Given the description of an element on the screen output the (x, y) to click on. 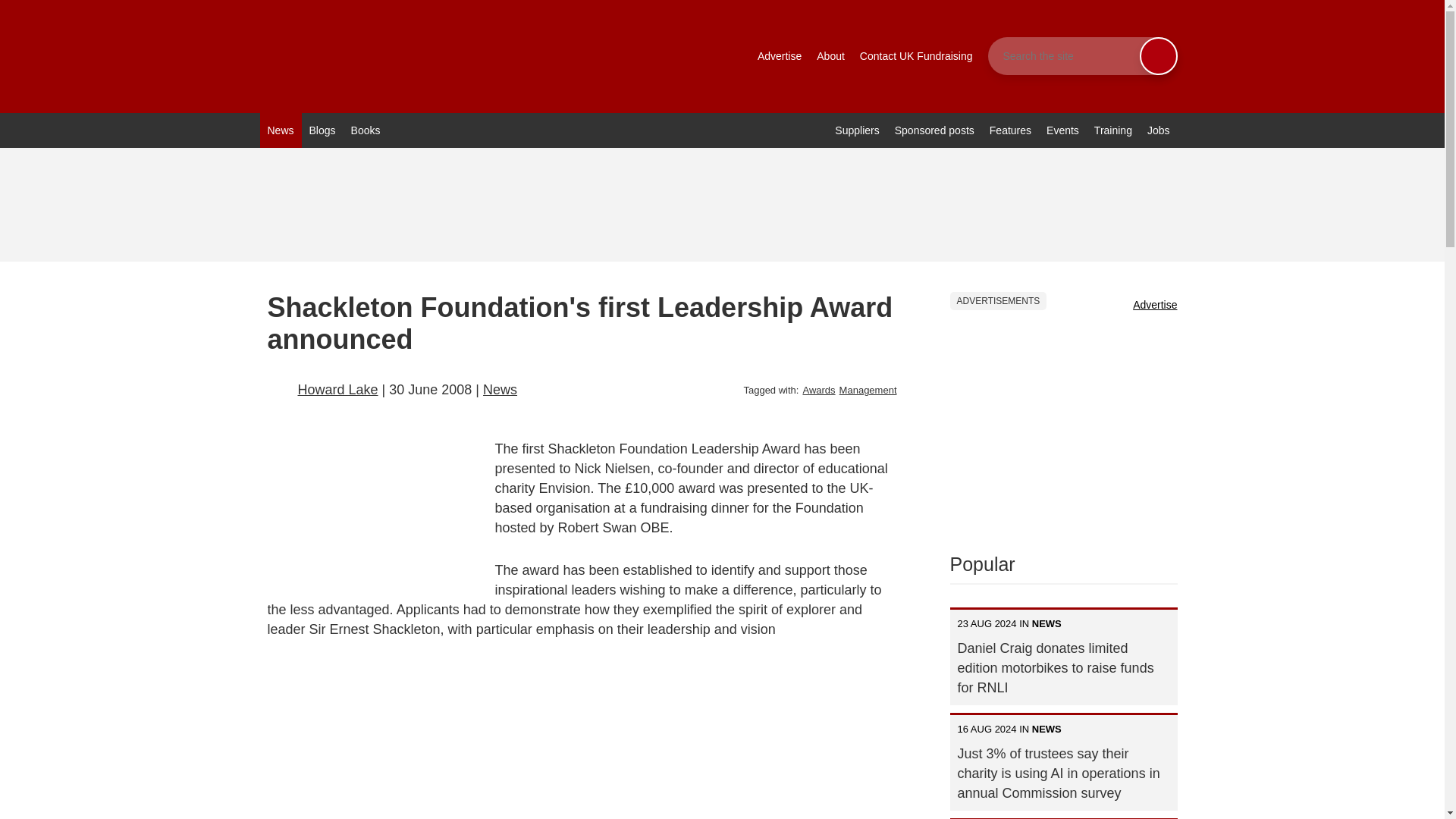
Advertise (779, 55)
Contact UK Fundraising (915, 55)
Management (868, 389)
Nick Nielsen (429, 728)
Features (1010, 130)
View posts in News (499, 389)
Suppliers (856, 130)
Goto UK Fundraising homepage (456, 56)
Jobs (1158, 130)
Blogs (322, 130)
